Given the description of an element on the screen output the (x, y) to click on. 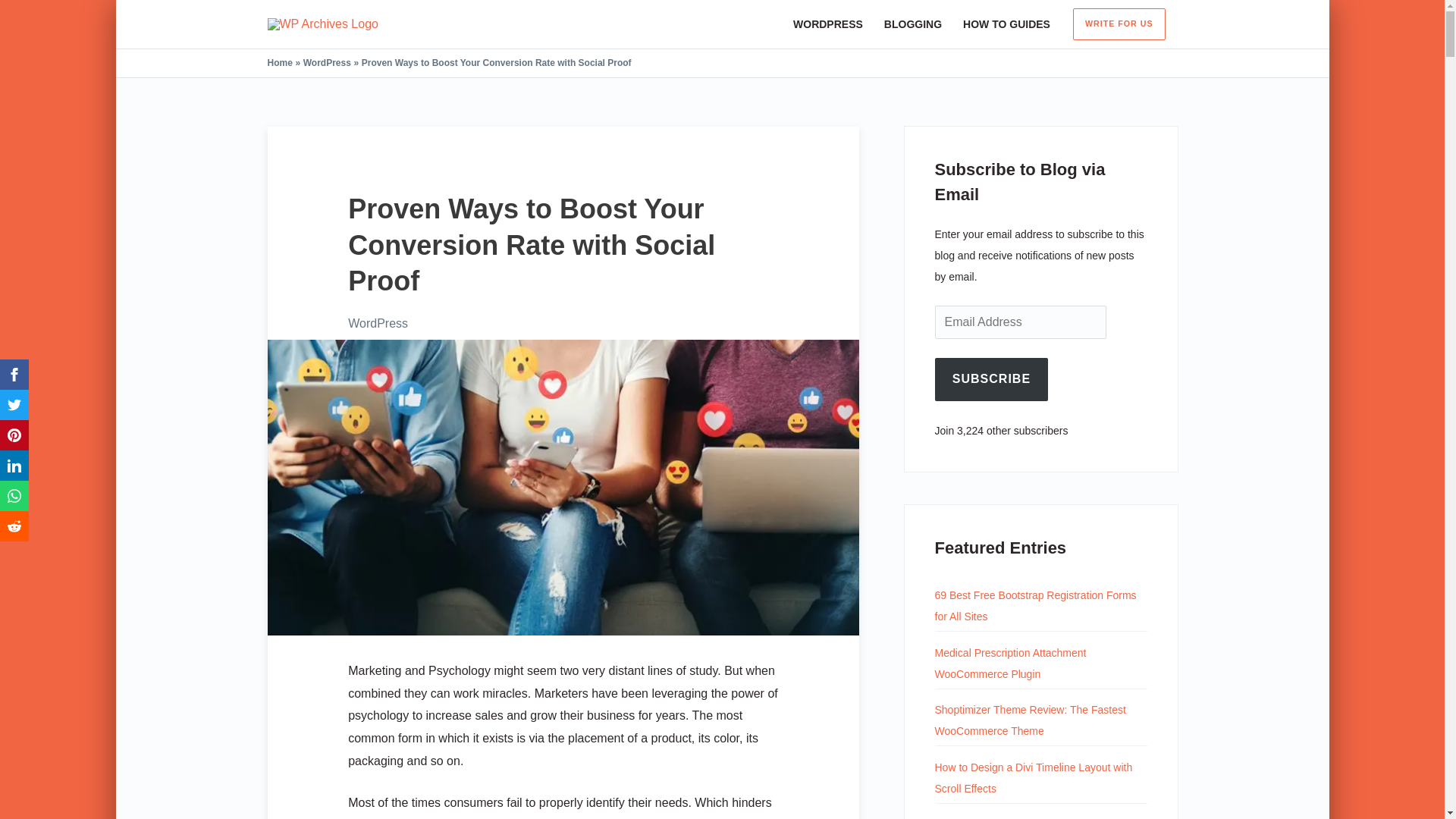
HOW TO GUIDES (1006, 24)
BLOGGING (912, 24)
WordPress (326, 62)
WORDPRESS (828, 24)
Home (279, 62)
WRITE FOR US (1119, 24)
WordPress (377, 323)
